Given the description of an element on the screen output the (x, y) to click on. 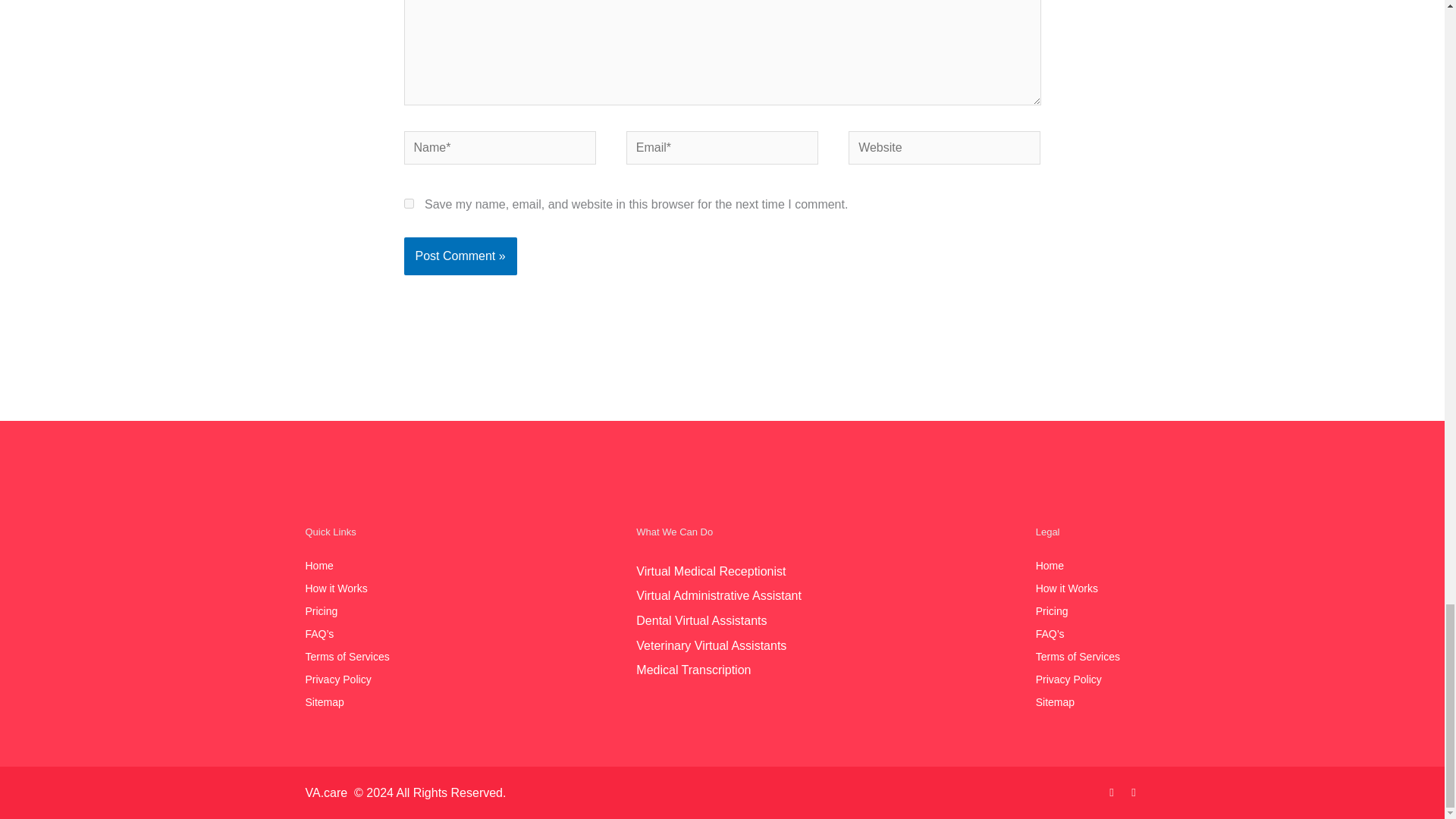
How it Works (346, 588)
Home (346, 565)
yes (408, 203)
